Given the description of an element on the screen output the (x, y) to click on. 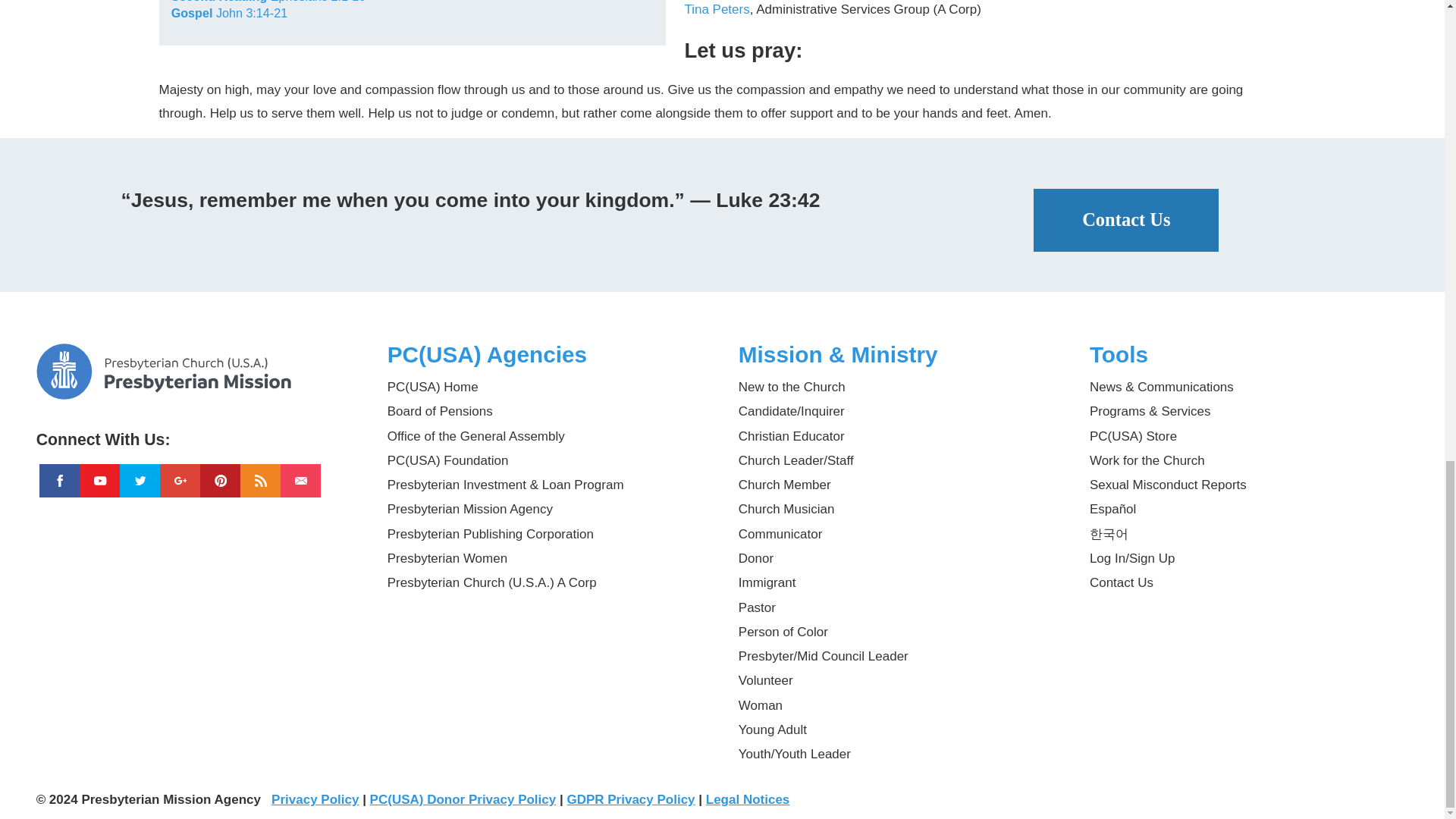
Follow Us on Social Media (195, 433)
